Given the description of an element on the screen output the (x, y) to click on. 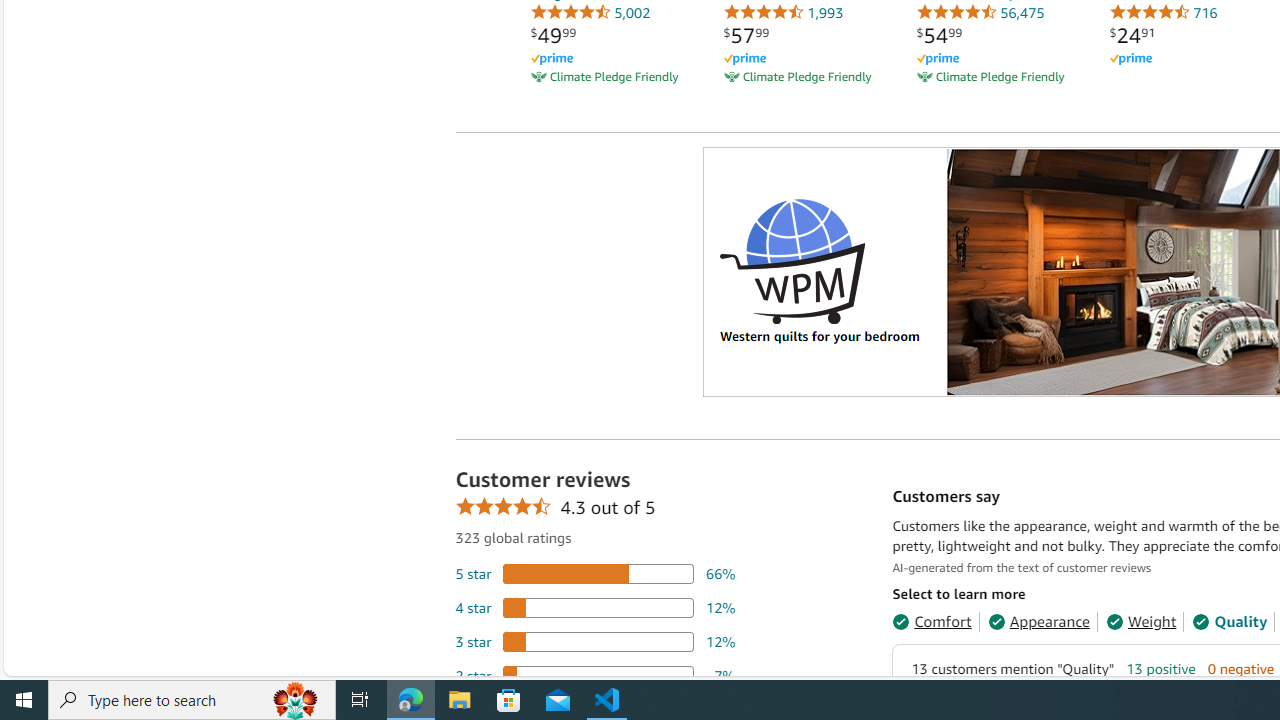
$49.99 (553, 35)
Comfort (931, 621)
Appearance (1038, 621)
Quality (1229, 621)
$24.91 (1131, 35)
5,002 (590, 12)
